Given the description of an element on the screen output the (x, y) to click on. 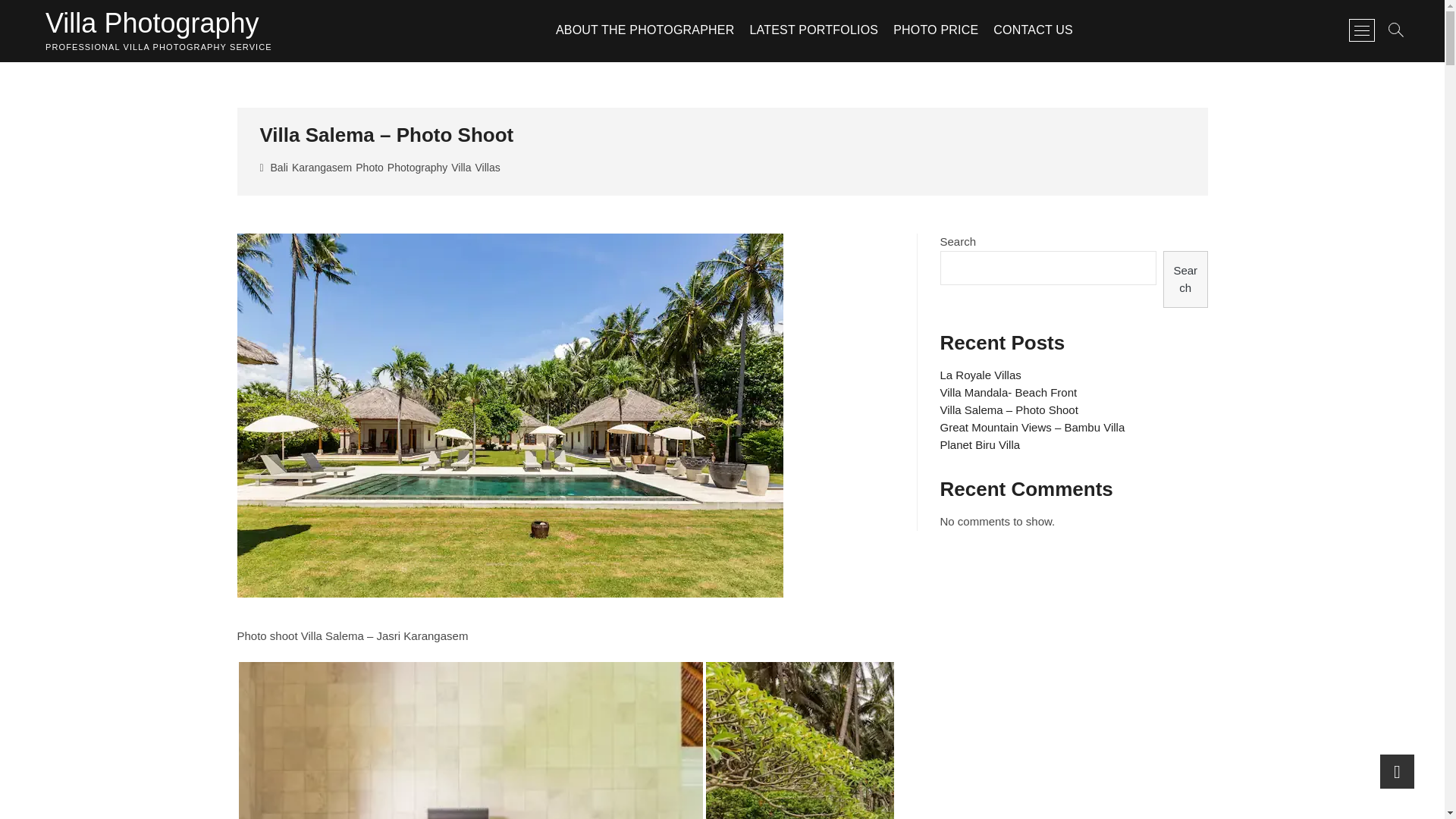
Karangasem (323, 169)
Photography (419, 169)
PHOTO PRICE (935, 30)
Villas (488, 169)
Villa (462, 169)
Villa-Salema-0573-49bc-8787-b41170777193 (469, 740)
Villa Photography (158, 23)
LATEST PORTFOLIOS (813, 30)
ABOUT THE PHOTOGRAPHER (645, 30)
Bali (281, 169)
Menu Button (1361, 29)
CONTACT US (1032, 30)
Photo (371, 169)
Villa-Salema-0787-4244-b3d0-0717b846a206 (964, 740)
Villa Photography (158, 23)
